Given the description of an element on the screen output the (x, y) to click on. 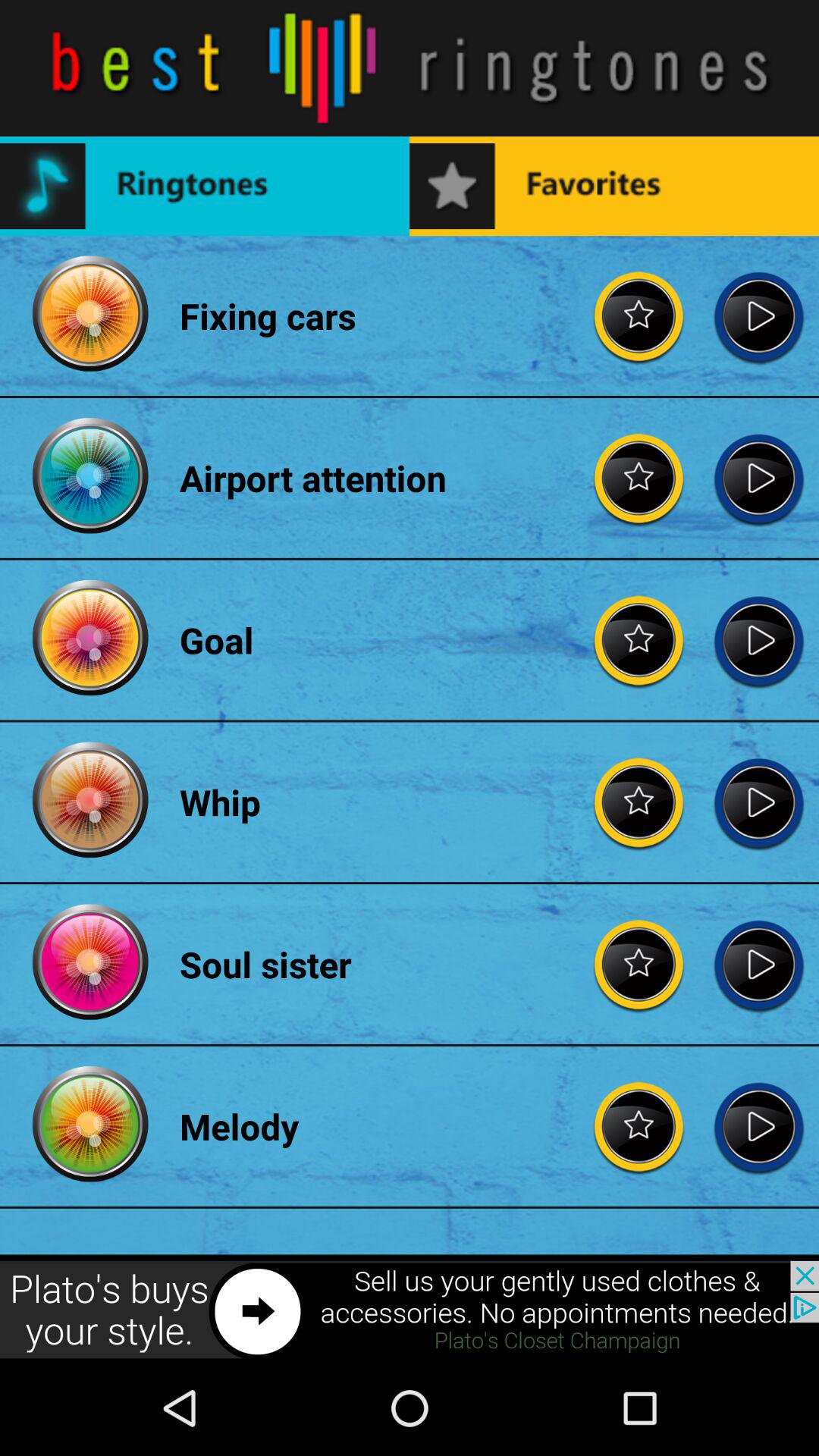
play the option (758, 315)
